Given the description of an element on the screen output the (x, y) to click on. 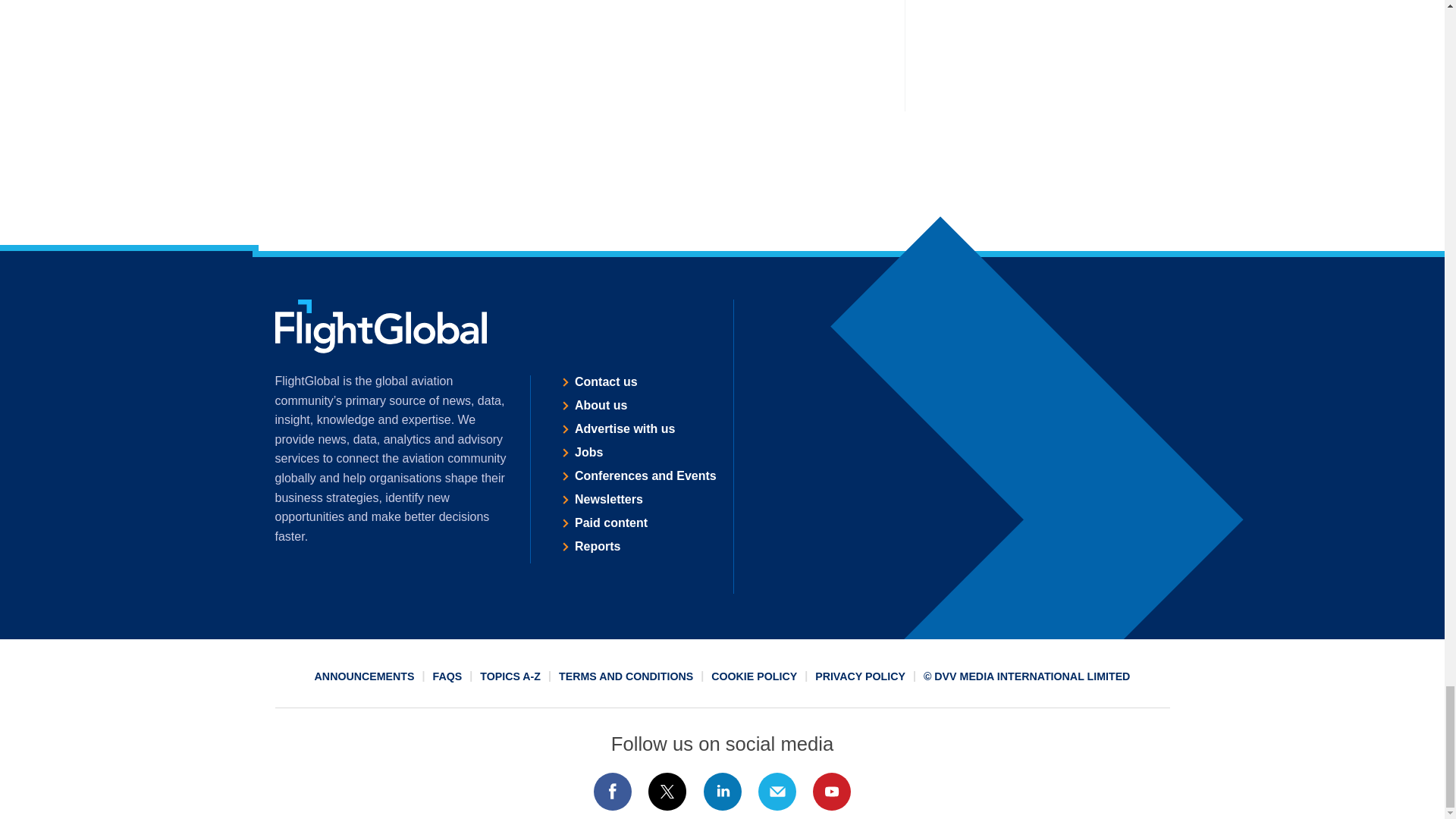
Connect with us on Linked In (721, 791)
Connect with us on Twitter (667, 791)
Connect with us on Youtube (831, 791)
Connect with us on Facebook (611, 791)
Email us (776, 791)
